Given the description of an element on the screen output the (x, y) to click on. 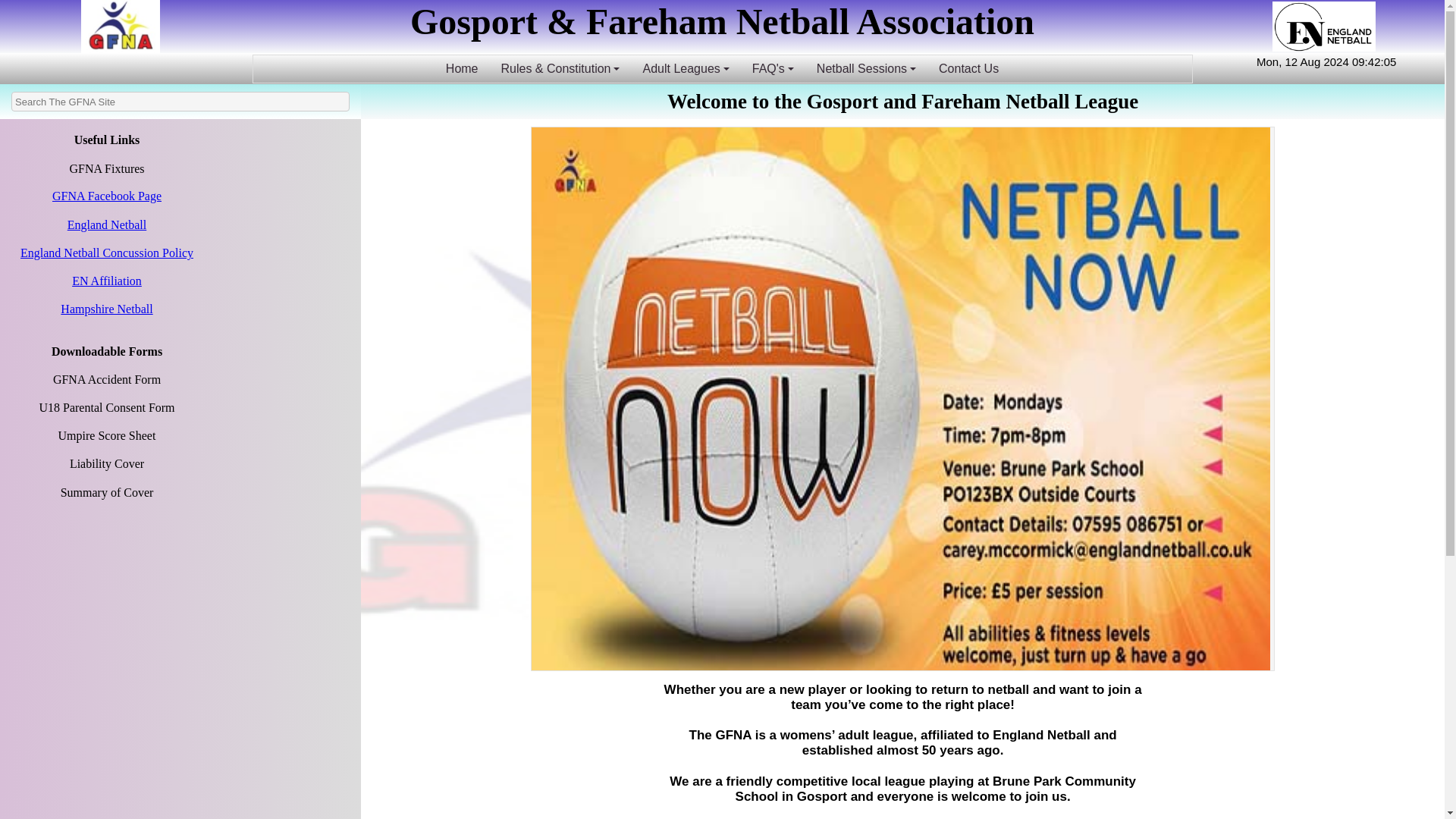
Home (461, 67)
Netball Sessions (866, 67)
FAQ's (773, 67)
Adult Leagues (684, 67)
Contact Us (968, 67)
Home (461, 67)
